Given the description of an element on the screen output the (x, y) to click on. 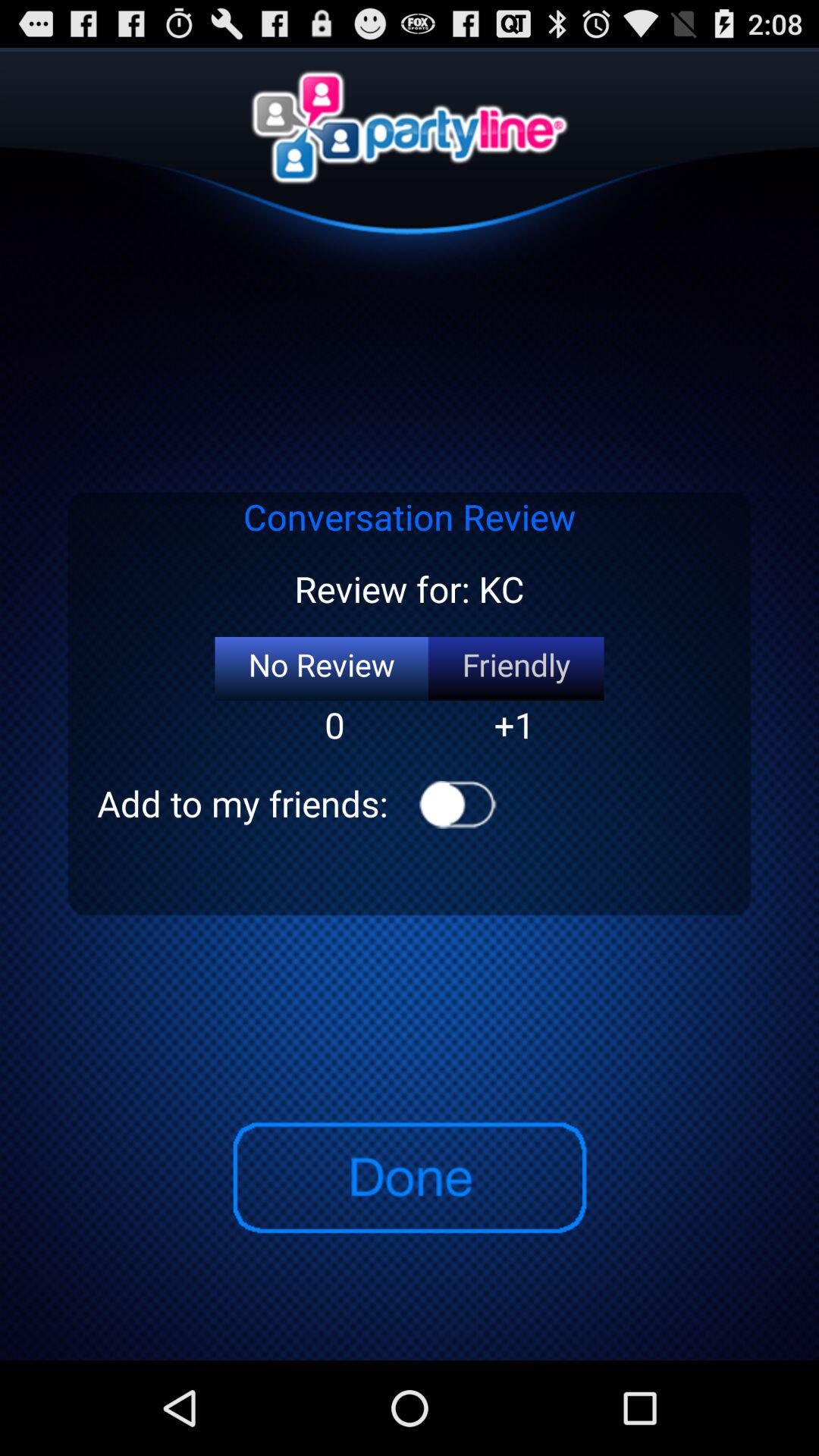
click the icon next to the friendly icon (321, 668)
